Given the description of an element on the screen output the (x, y) to click on. 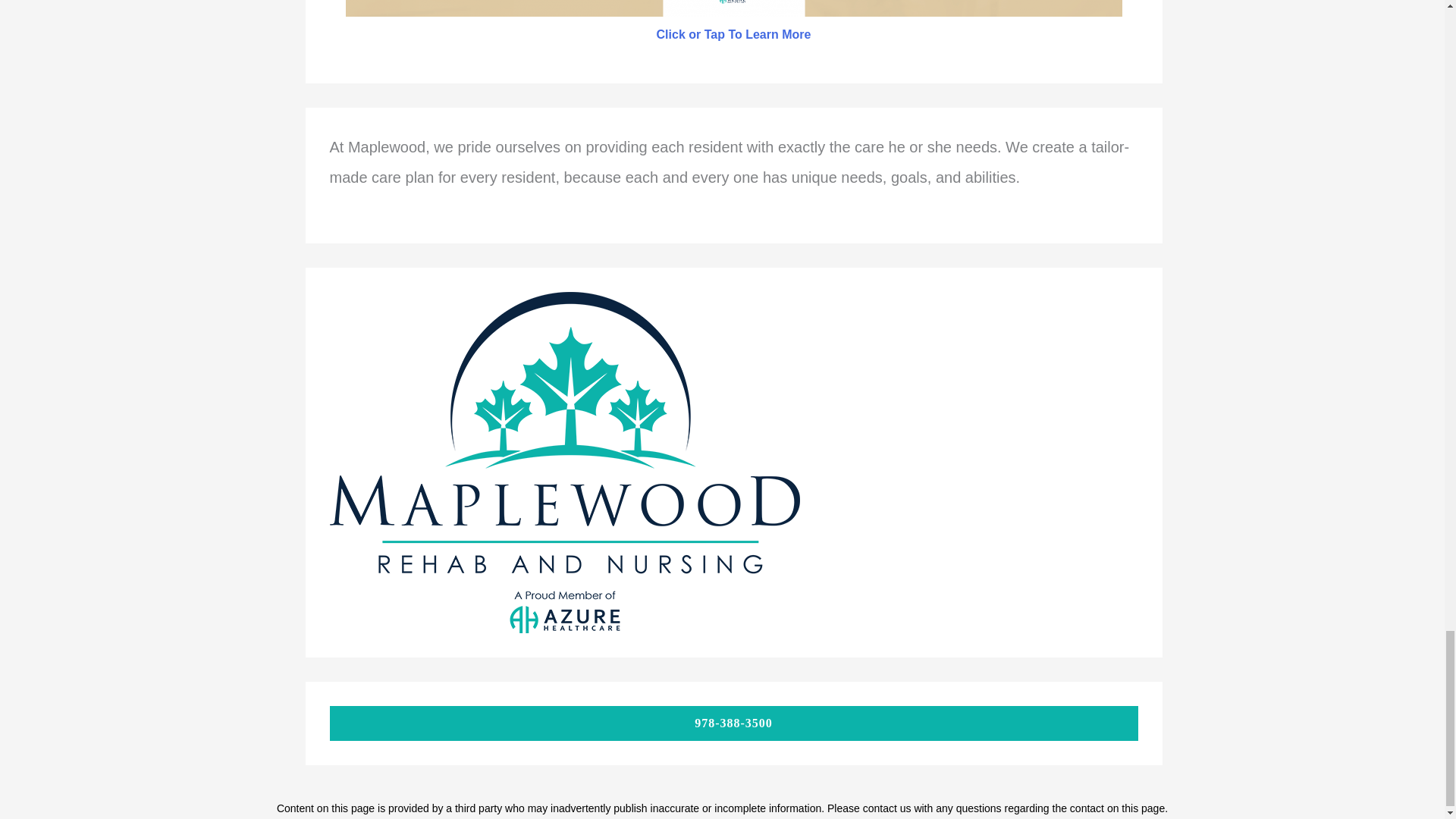
978-388-3500 (733, 723)
Click or Tap To Learn More (733, 33)
